Given the description of an element on the screen output the (x, y) to click on. 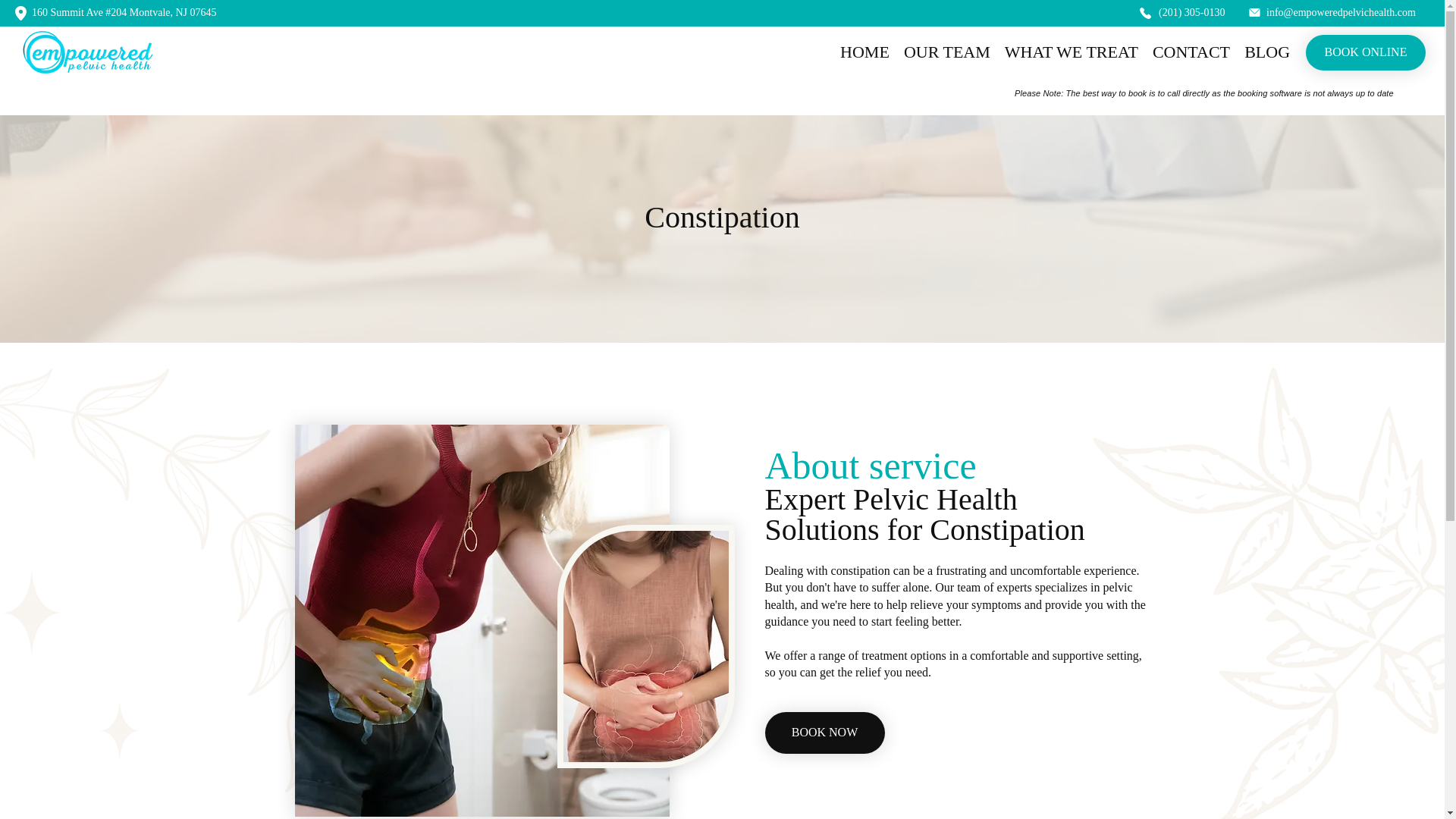
OUR TEAM (942, 52)
BLOG (1263, 52)
HOME (860, 52)
CONTACT (1187, 52)
BOOK ONLINE (1365, 52)
WHAT WE TREAT (1066, 52)
